Given the description of an element on the screen output the (x, y) to click on. 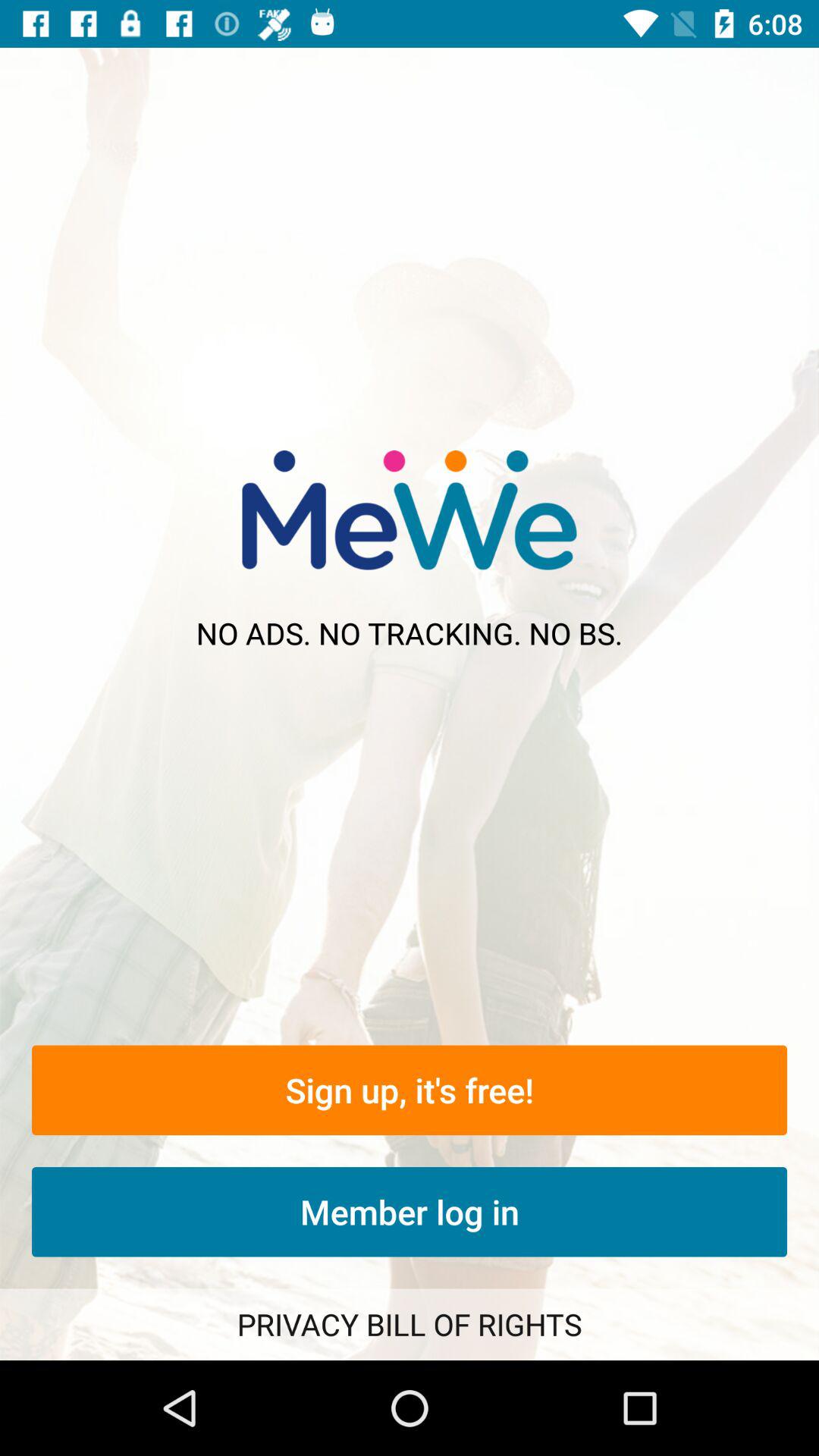
tap the privacy bill of item (409, 1324)
